Given the description of an element on the screen output the (x, y) to click on. 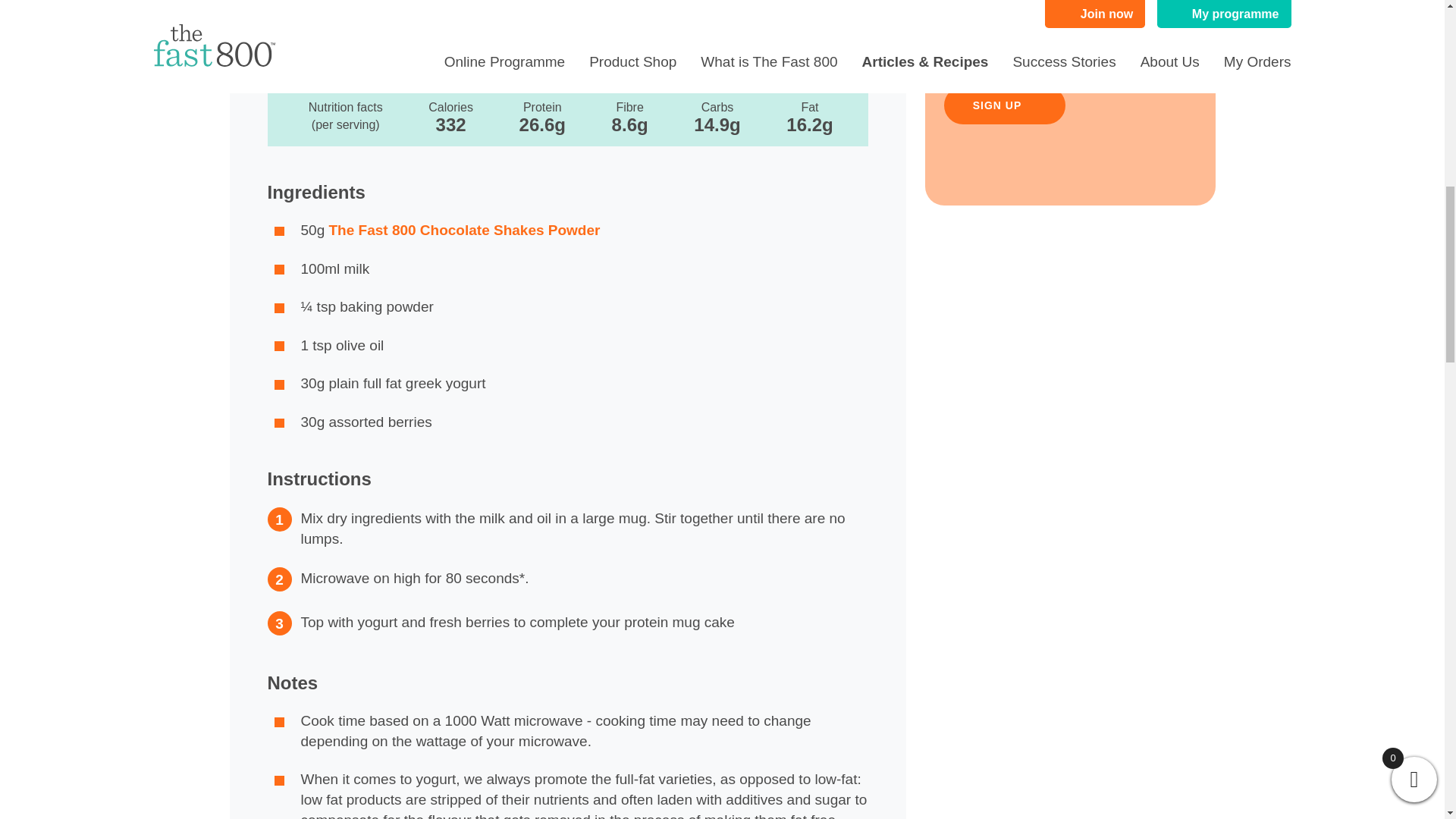
The Fast 800 chocolate shakes powder (400, 4)
Sign up (1004, 105)
The Fast 800 Chocolate Shakes Powder (464, 229)
